Given the description of an element on the screen output the (x, y) to click on. 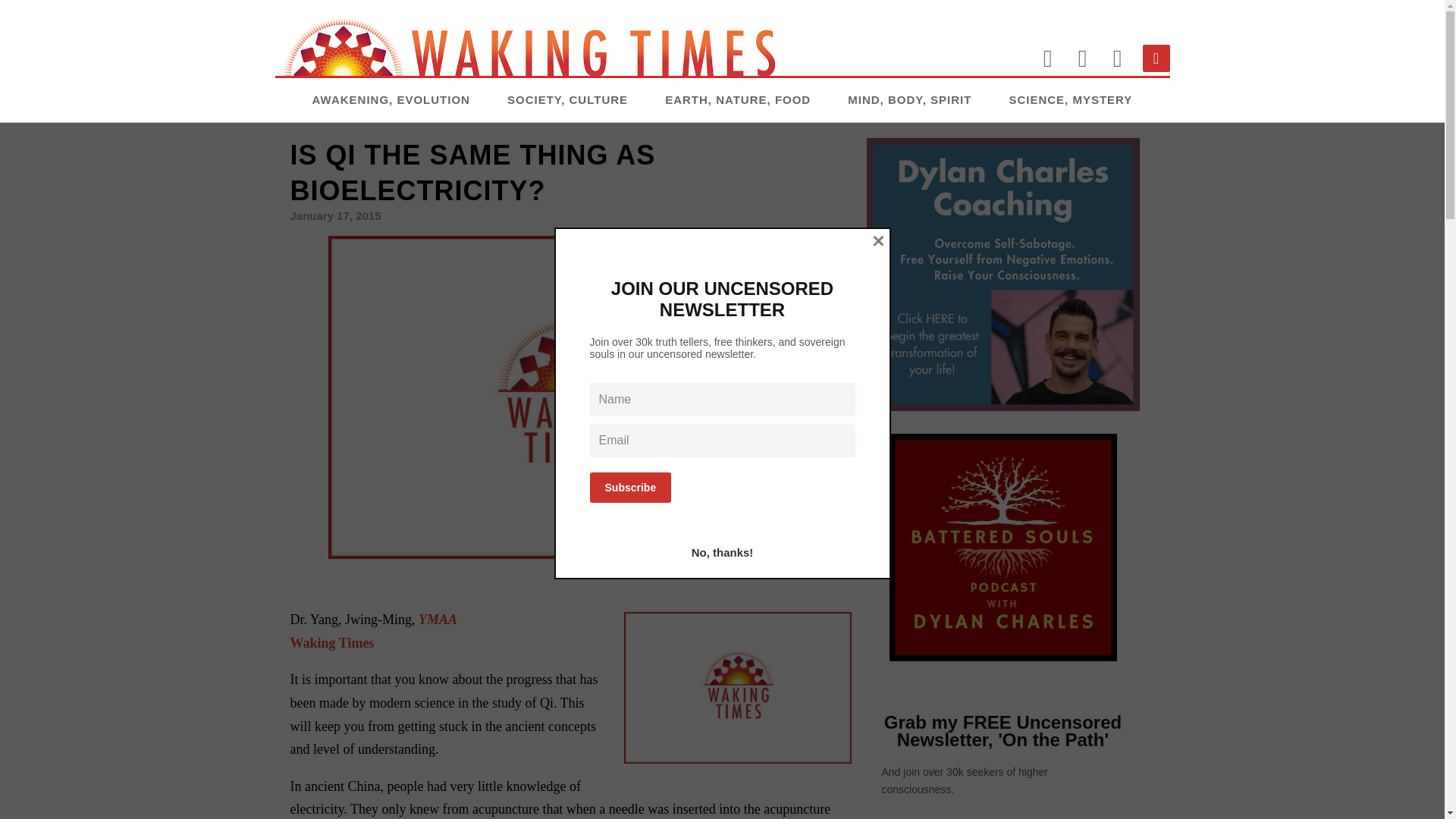
YMAA (438, 619)
AWAKENING, EVOLUTION (391, 99)
Waking Times (331, 642)
YMAA (438, 619)
MIND, BODY, SPIRIT (909, 99)
EARTH, NATURE, FOOD (737, 99)
Is Qi the Same Thing as Bioelectricity? (569, 395)
Waking Times (331, 642)
SCIENCE, MYSTERY (1070, 99)
SOCIETY, CULTURE (566, 99)
